Given the description of an element on the screen output the (x, y) to click on. 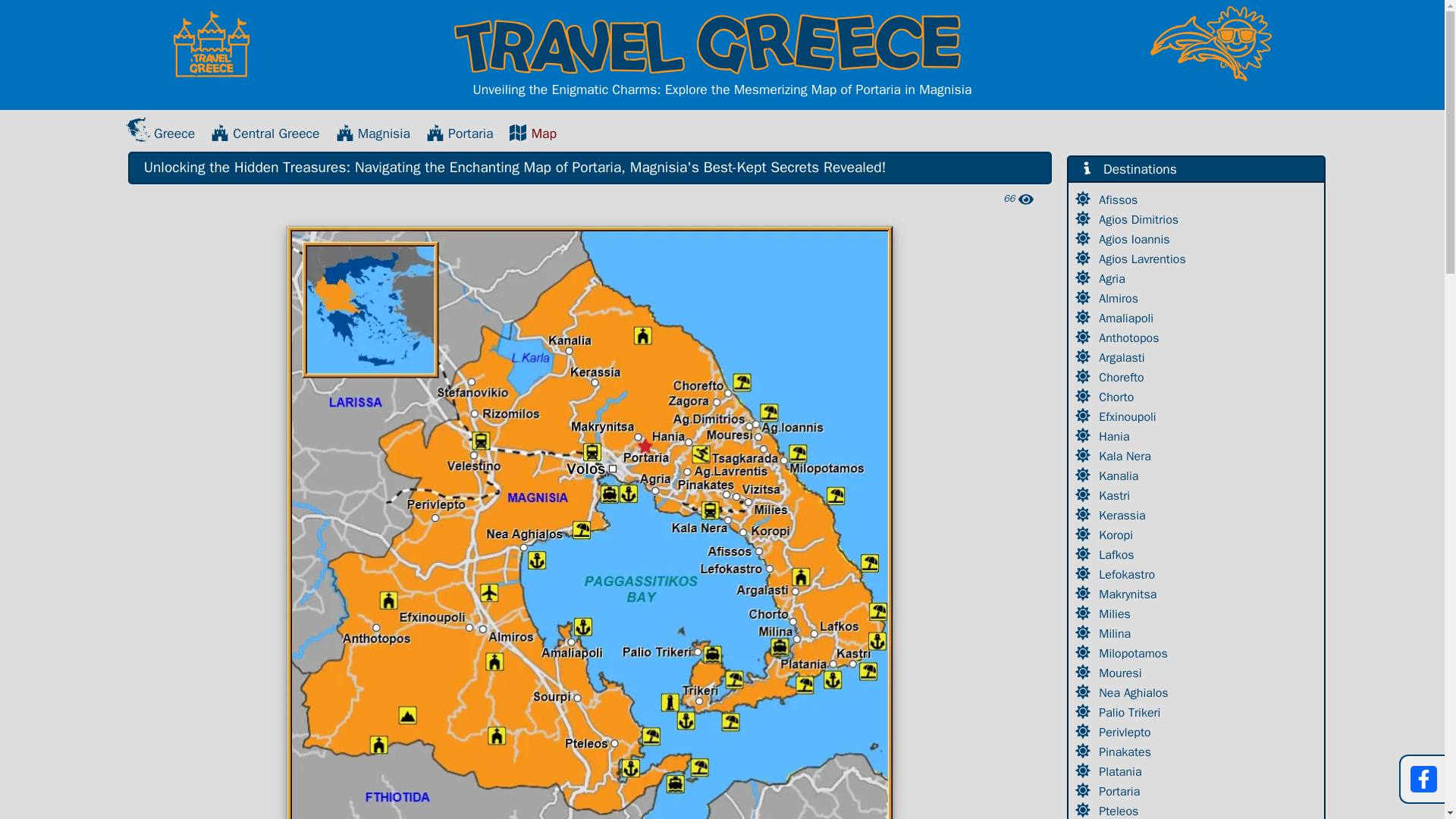
Argalasti (1123, 357)
Anthotopos (1130, 337)
Chorefto (1123, 377)
Amaliapoli (1128, 318)
Central Greece (264, 133)
Agios Lavrentios (1144, 258)
Portaria (459, 133)
Greece (160, 133)
Almiros (1120, 298)
Kanalia (1120, 476)
